Given the description of an element on the screen output the (x, y) to click on. 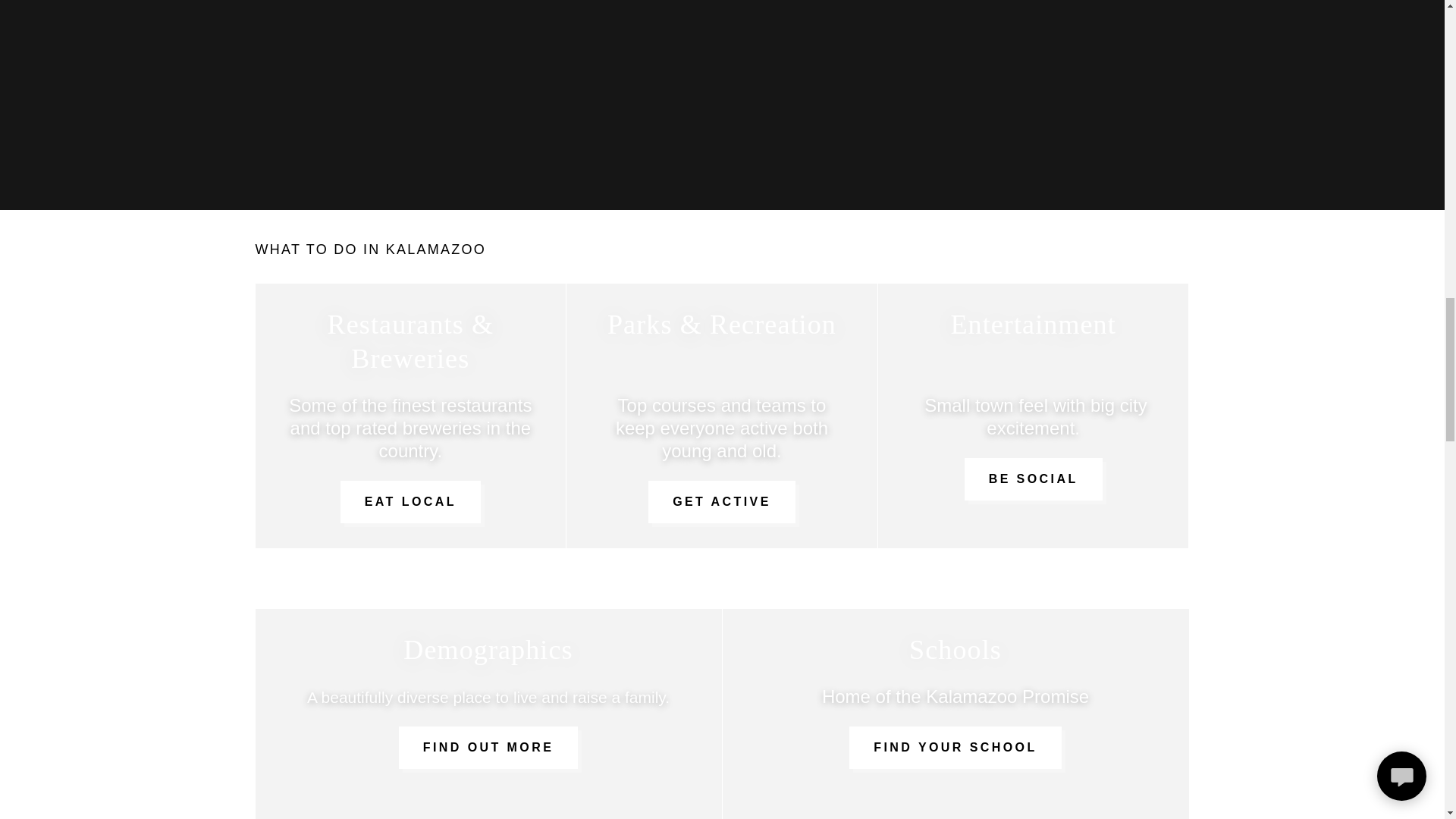
BE SOCIAL (1032, 478)
GET ACTIVE (720, 501)
FIND OUT MORE (488, 747)
EAT LOCAL (410, 501)
FIND YOUR SCHOOL (954, 747)
